Given the description of an element on the screen output the (x, y) to click on. 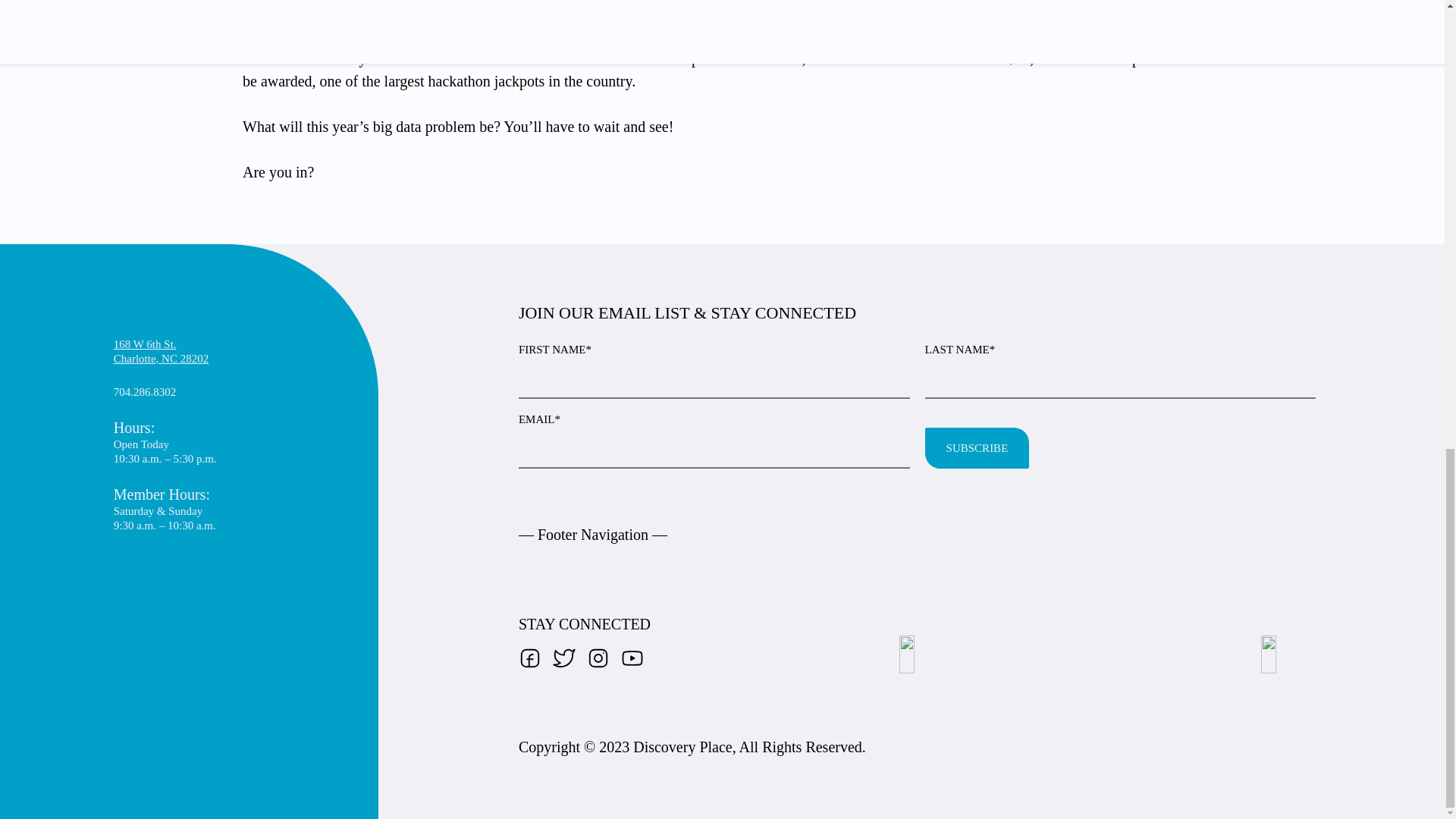
Follow us on Instagram (598, 658)
Follow us on Facebook (160, 351)
Follow us on Twitter (529, 658)
SUBSCRIBE (564, 658)
Follow us on Youtube (976, 447)
704.286.8302 (632, 658)
